Given the description of an element on the screen output the (x, y) to click on. 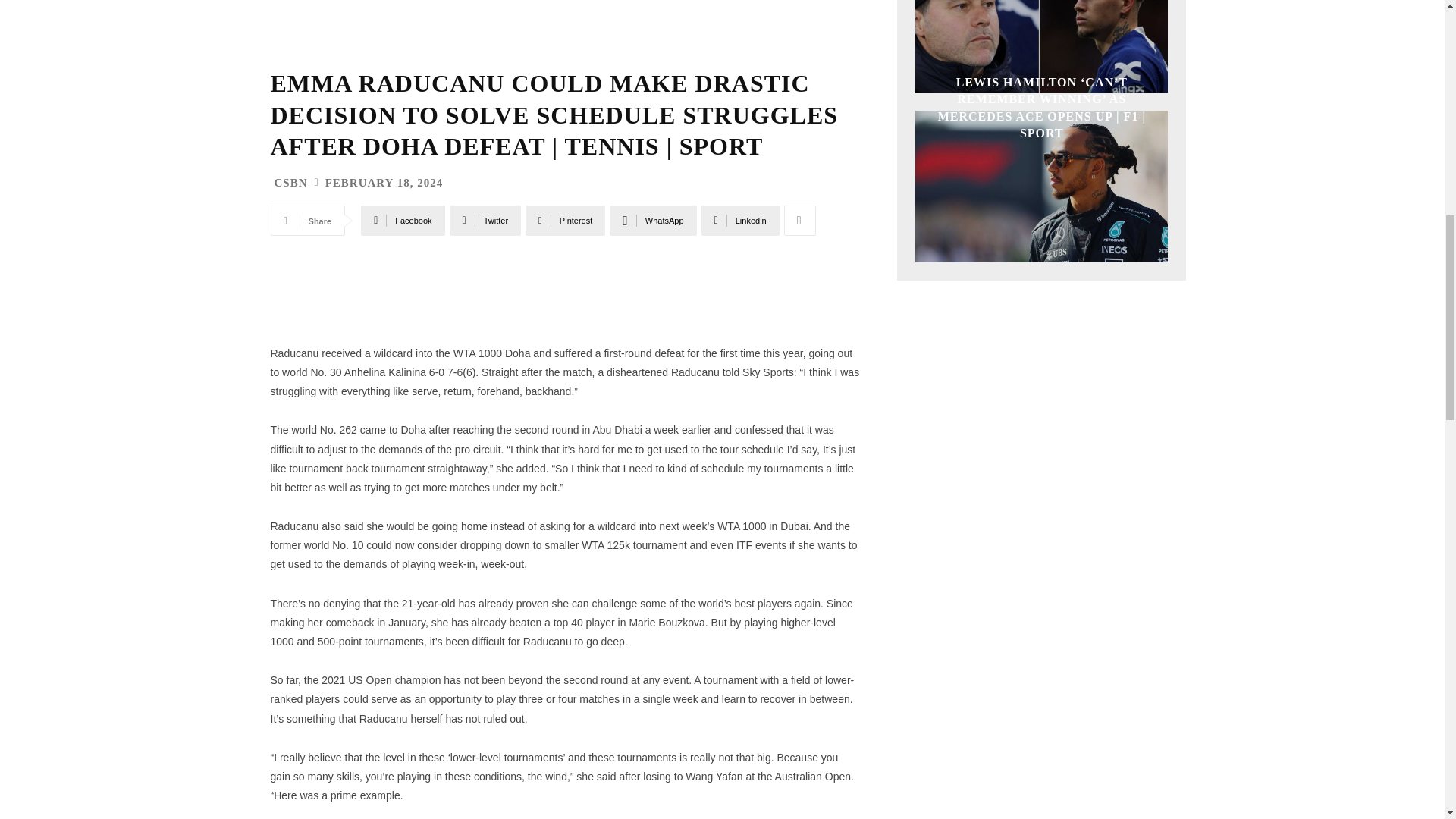
Pinterest (565, 220)
Linkedin (739, 220)
Twitter (485, 220)
More (799, 220)
WhatsApp (652, 220)
Facebook (402, 220)
